Given the description of an element on the screen output the (x, y) to click on. 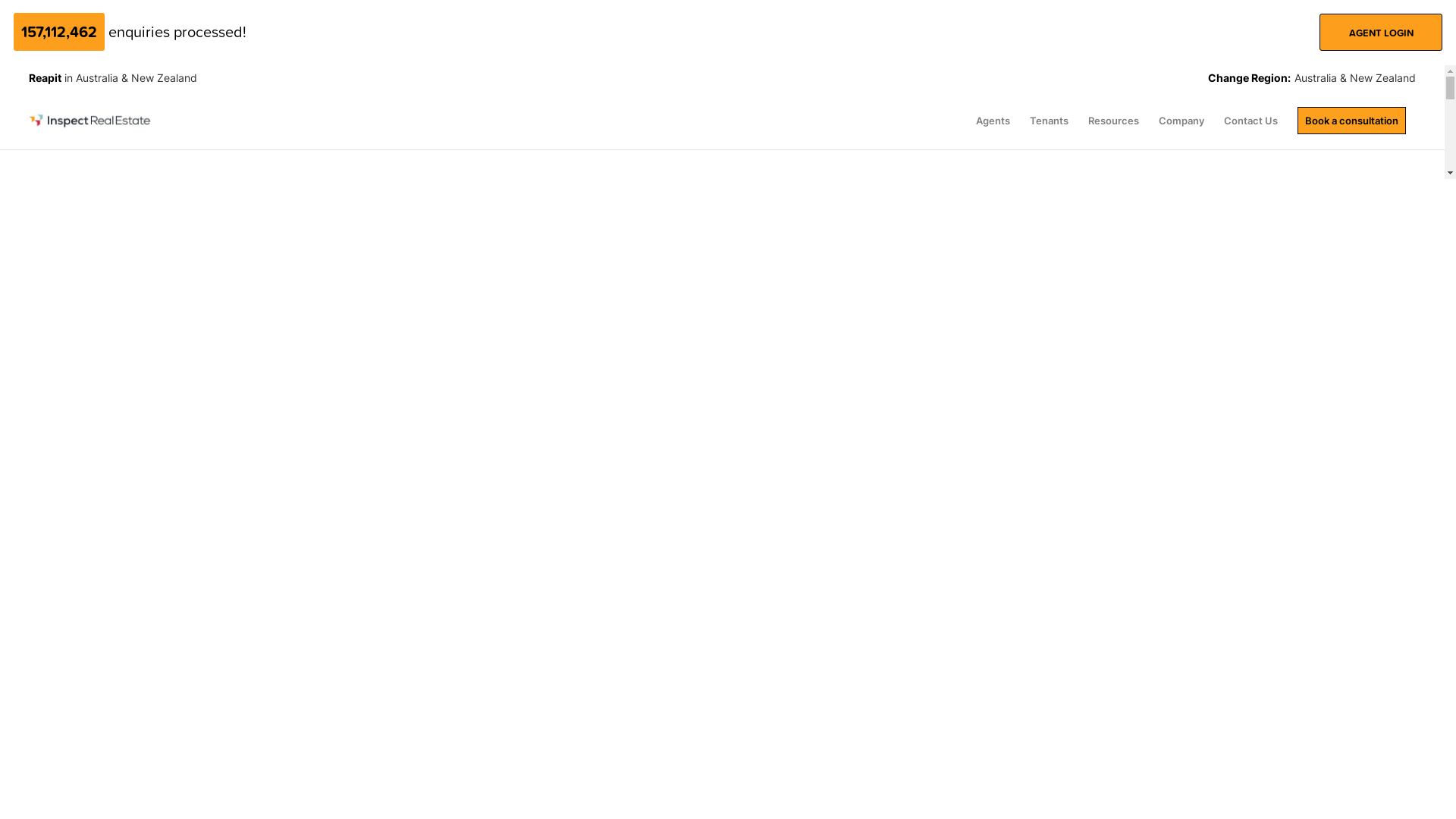
AGENT LOGIN Element type: text (1380, 31)
